Given the description of an element on the screen output the (x, y) to click on. 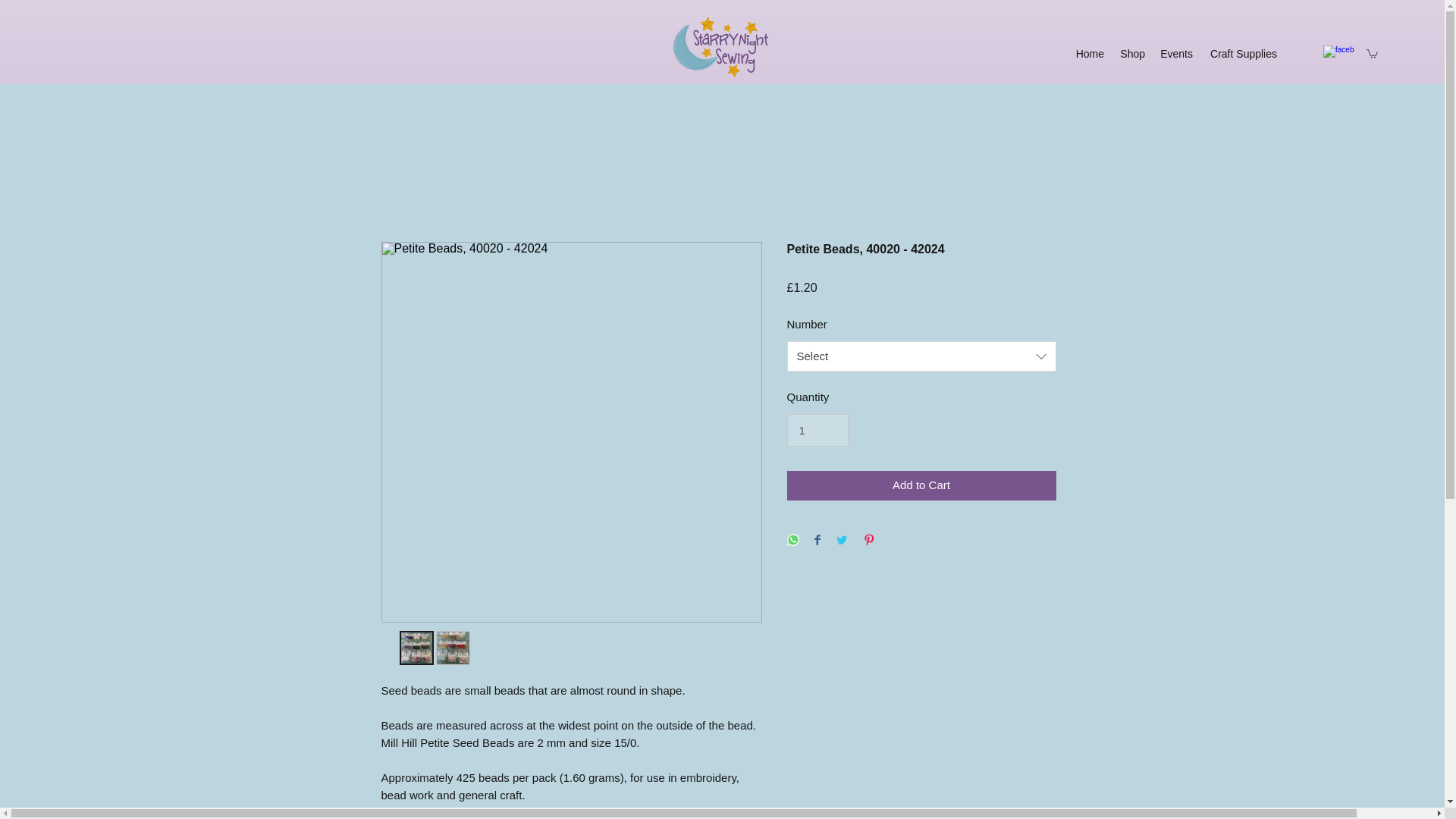
Events (1176, 53)
Add to Cart (922, 485)
Craft Supplies (1241, 53)
Back to the main page (720, 46)
Home (1089, 53)
1 (817, 430)
Shop (1132, 53)
Select (922, 356)
